Given the description of an element on the screen output the (x, y) to click on. 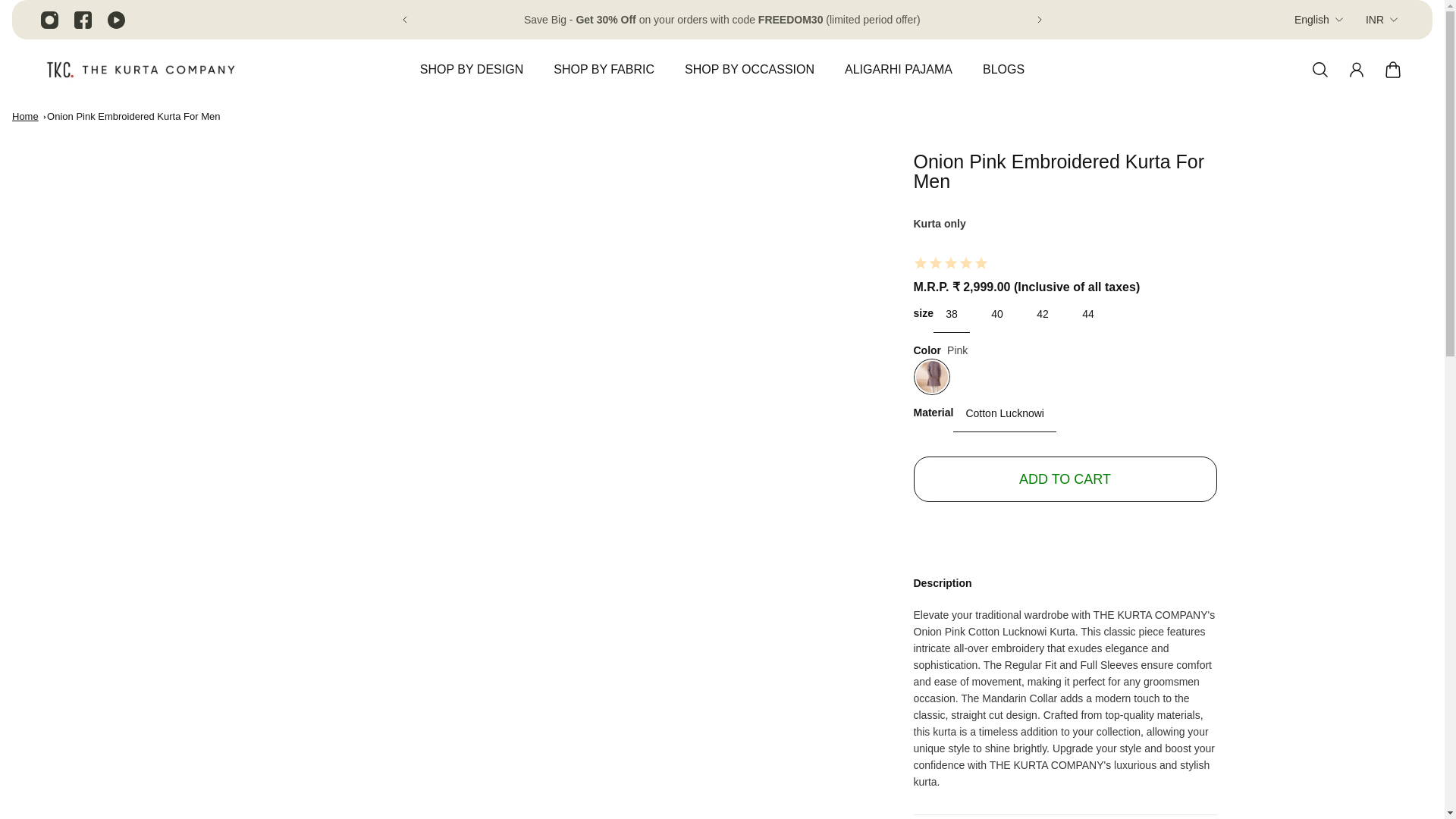
SHOP BY DESIGN (471, 77)
ALIGARHI PAJAMA (898, 77)
ADD TO CART (1063, 479)
SHOP BY FABRIC (603, 77)
BLOGS (1003, 77)
SHOP BY OCCASSION (749, 77)
Home (25, 116)
Onion Pink Embroidered Kurta For Men (132, 116)
